Given the description of an element on the screen output the (x, y) to click on. 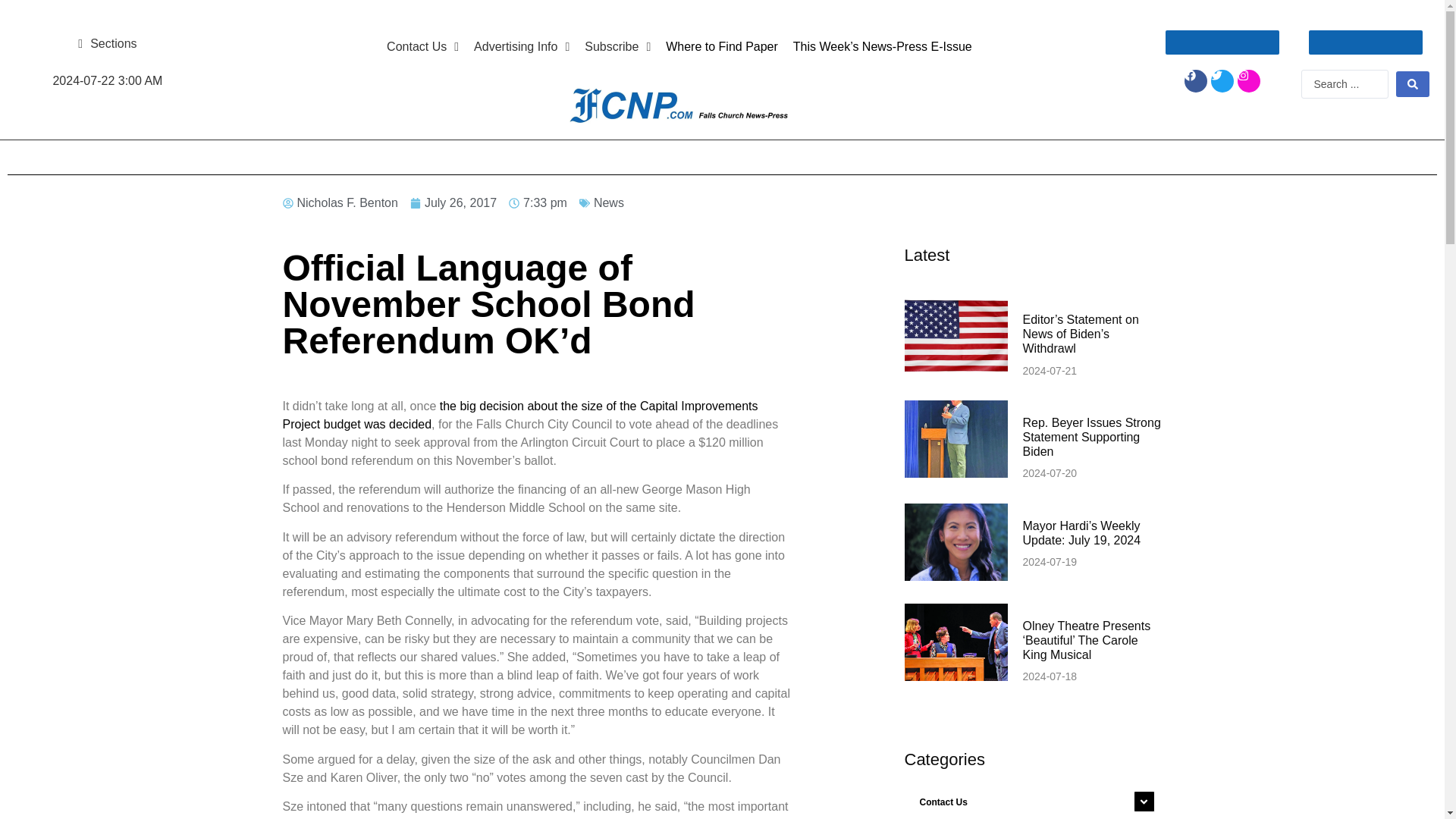
Rep. Beyer Issues Strong Statement Supporting Biden (1091, 436)
Contact Us (1032, 800)
Where to Find Paper (722, 46)
Subscribe (617, 46)
Advertising Info (520, 46)
News (609, 202)
Contact Us (421, 46)
Nicholas F. Benton (339, 203)
July 26, 2017 (453, 203)
